Given the description of an element on the screen output the (x, y) to click on. 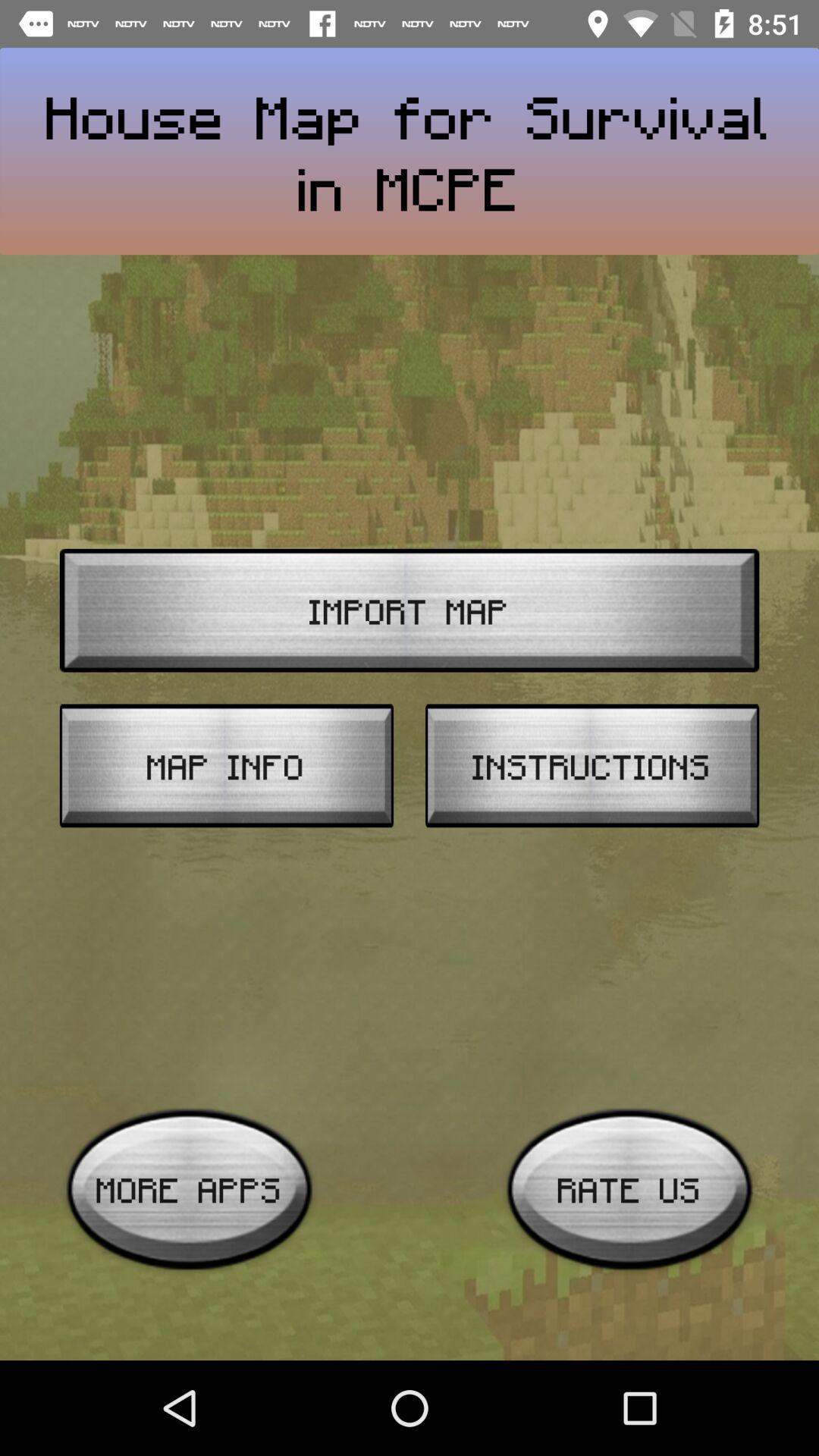
choose instructions (592, 765)
